Given the description of an element on the screen output the (x, y) to click on. 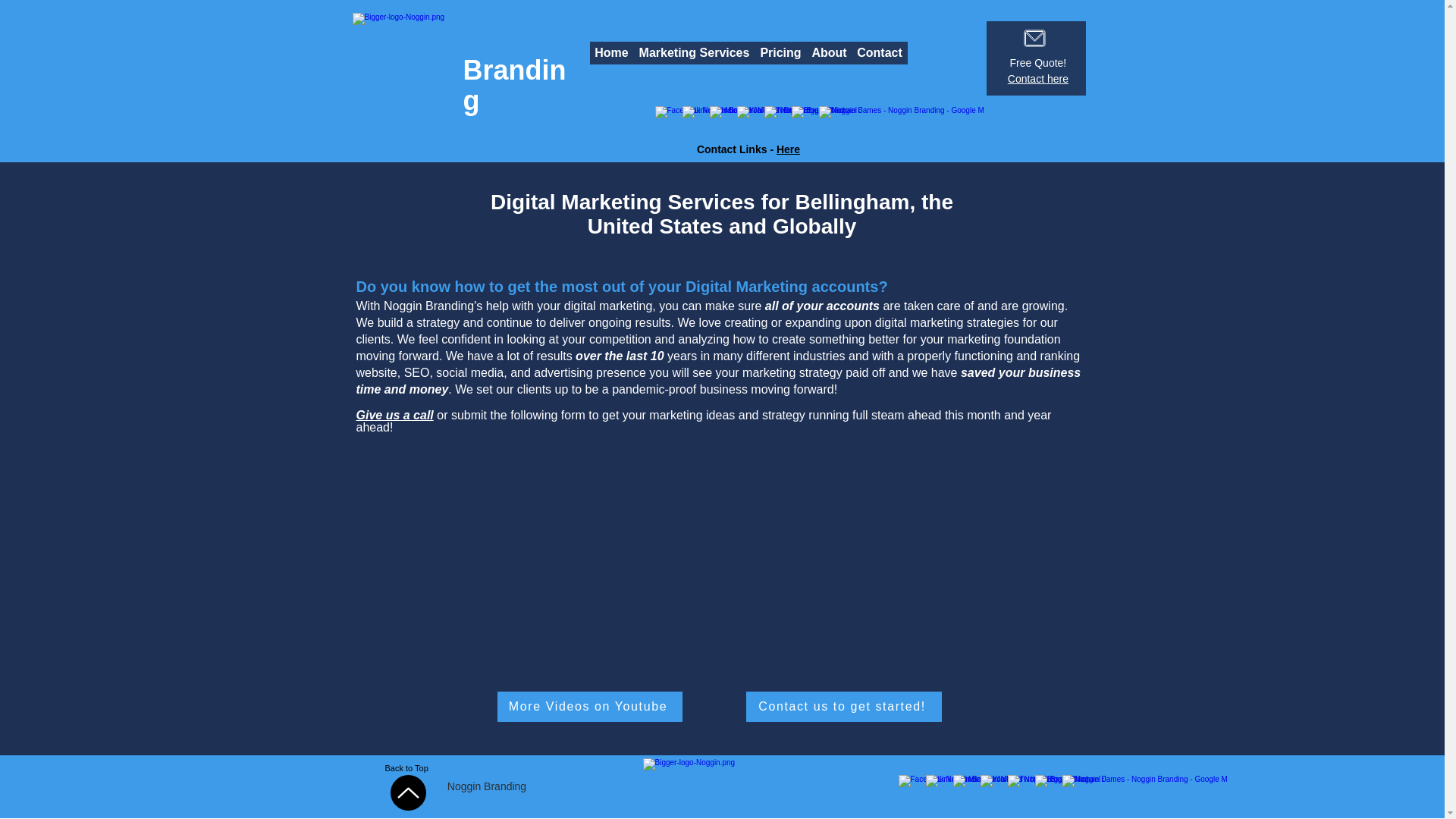
Contact Links - Here (748, 149)
More Videos on Youtube (589, 706)
Branding (514, 85)
Back to Top (408, 767)
  Contact here (1034, 78)
Give us a call (394, 414)
Contact (879, 52)
Contact us to get started! (843, 706)
Home (611, 52)
Marketing Services (694, 52)
